Given the description of an element on the screen output the (x, y) to click on. 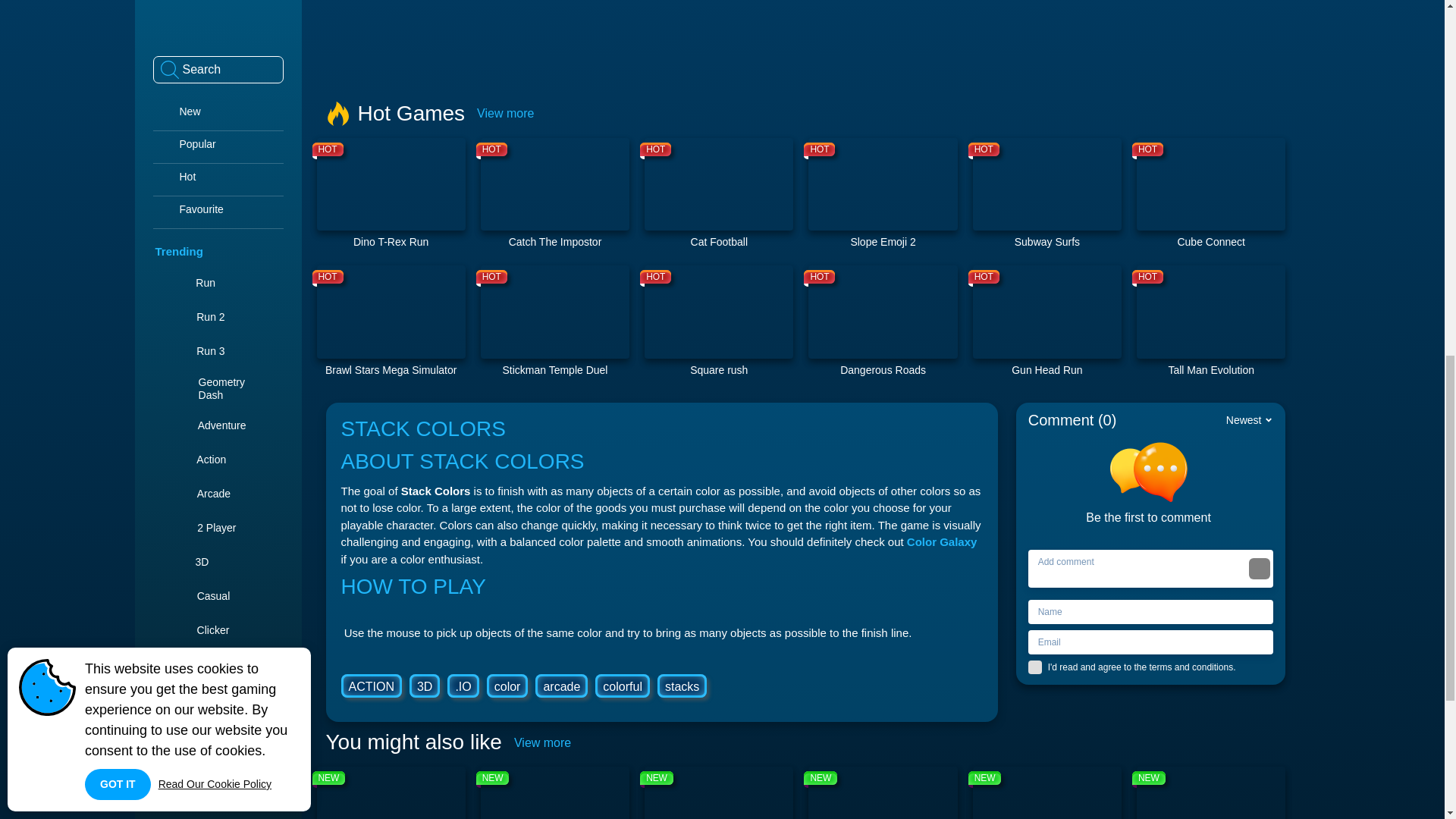
Advertisement (805, 38)
View more (505, 113)
Shooter (554, 321)
Be the first to comment (882, 194)
